Given the description of an element on the screen output the (x, y) to click on. 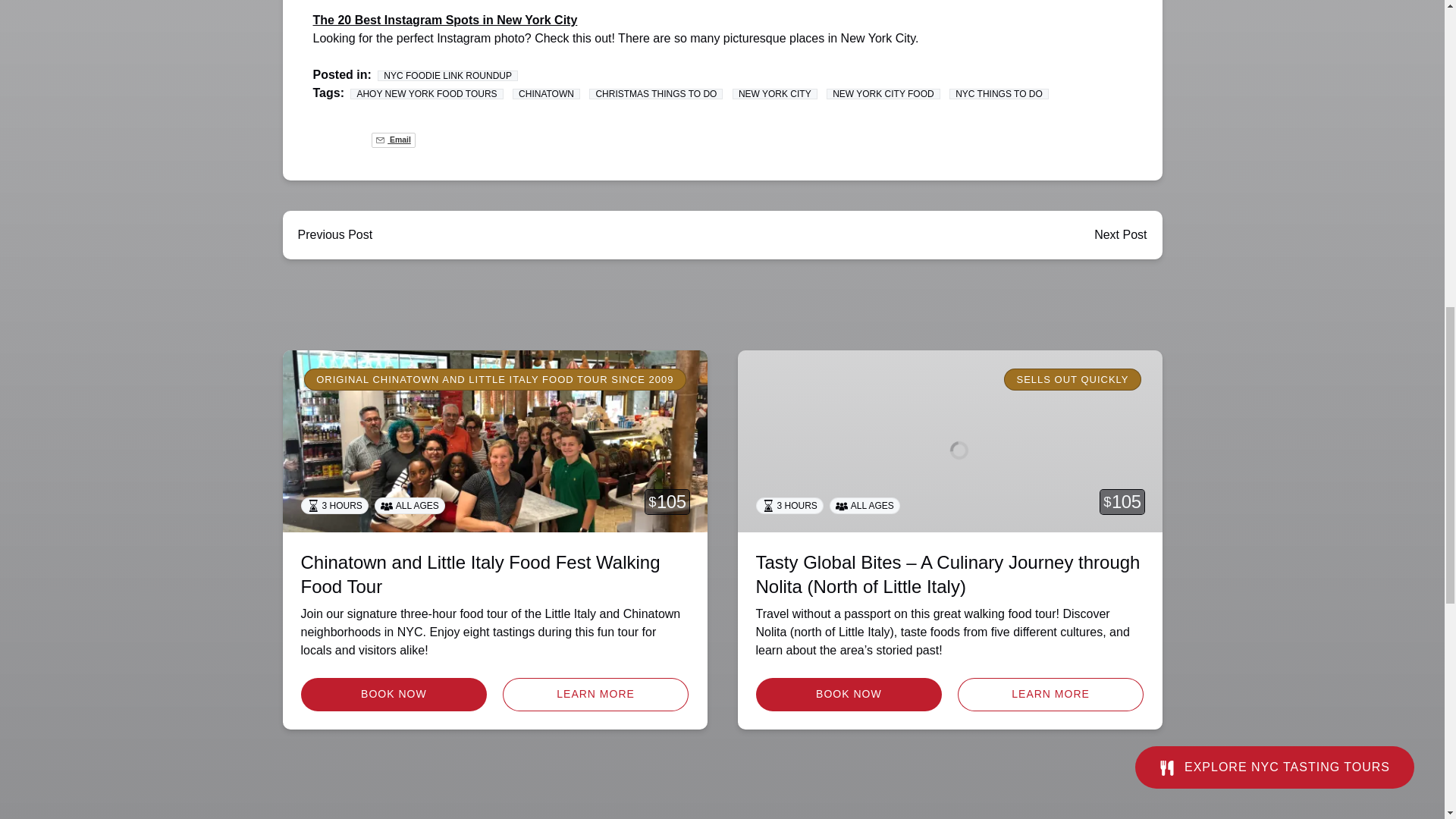
The 20 Best Instagram Spots in New York City (444, 19)
CHINATOWN (545, 93)
AHOY NEW YORK FOOD TOURS (426, 93)
FareHarbor (1342, 64)
NEW YORK CITY (774, 93)
CHRISTMAS THINGS TO DO (655, 93)
NYC FOODIE LINK ROUNDUP (447, 75)
